Given the description of an element on the screen output the (x, y) to click on. 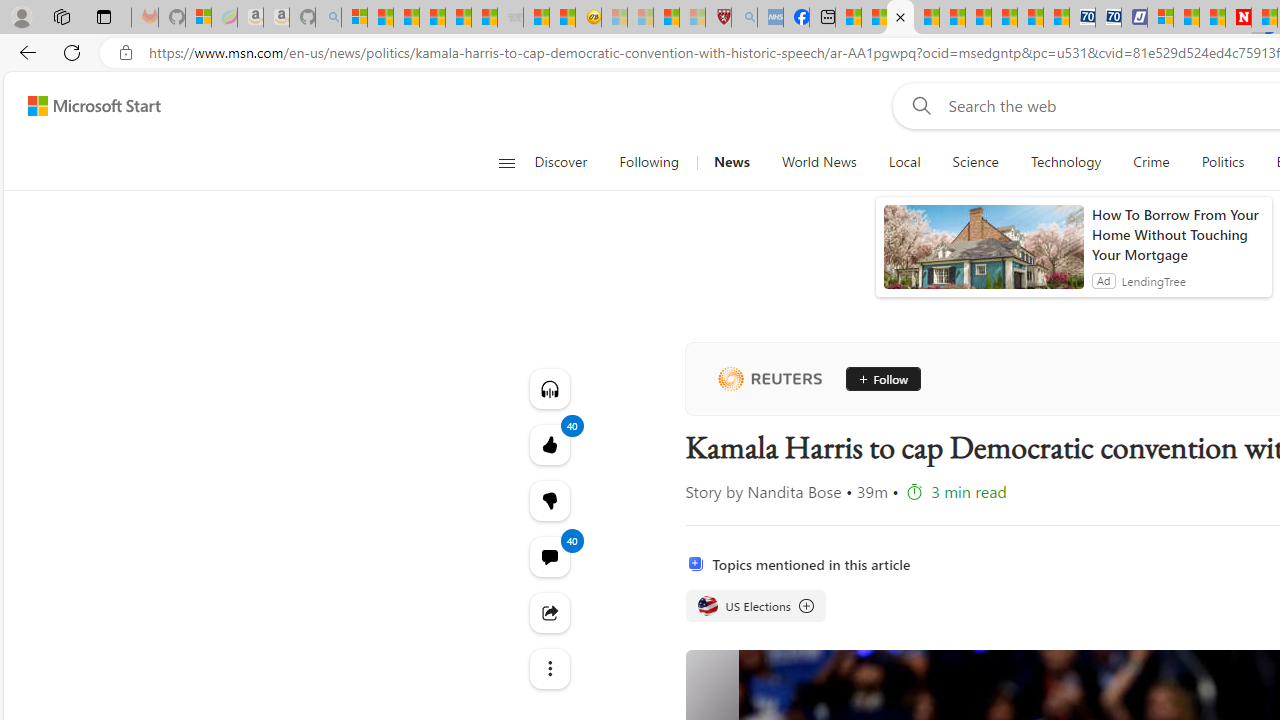
Close tab (900, 16)
Microsoft Start (1186, 17)
Microsoft Start (94, 105)
NCL Adult Asthma Inhaler Choice Guideline - Sleeping (770, 17)
Cheap Car Rentals - Save70.com (1082, 17)
New Report Confirms 2023 Was Record Hot | Watch (458, 17)
Share this story (548, 612)
Refresh (72, 52)
Microsoft-Report a Concern to Bing (198, 17)
Tab actions menu (104, 16)
Class: at-item (548, 668)
